Given the description of an element on the screen output the (x, y) to click on. 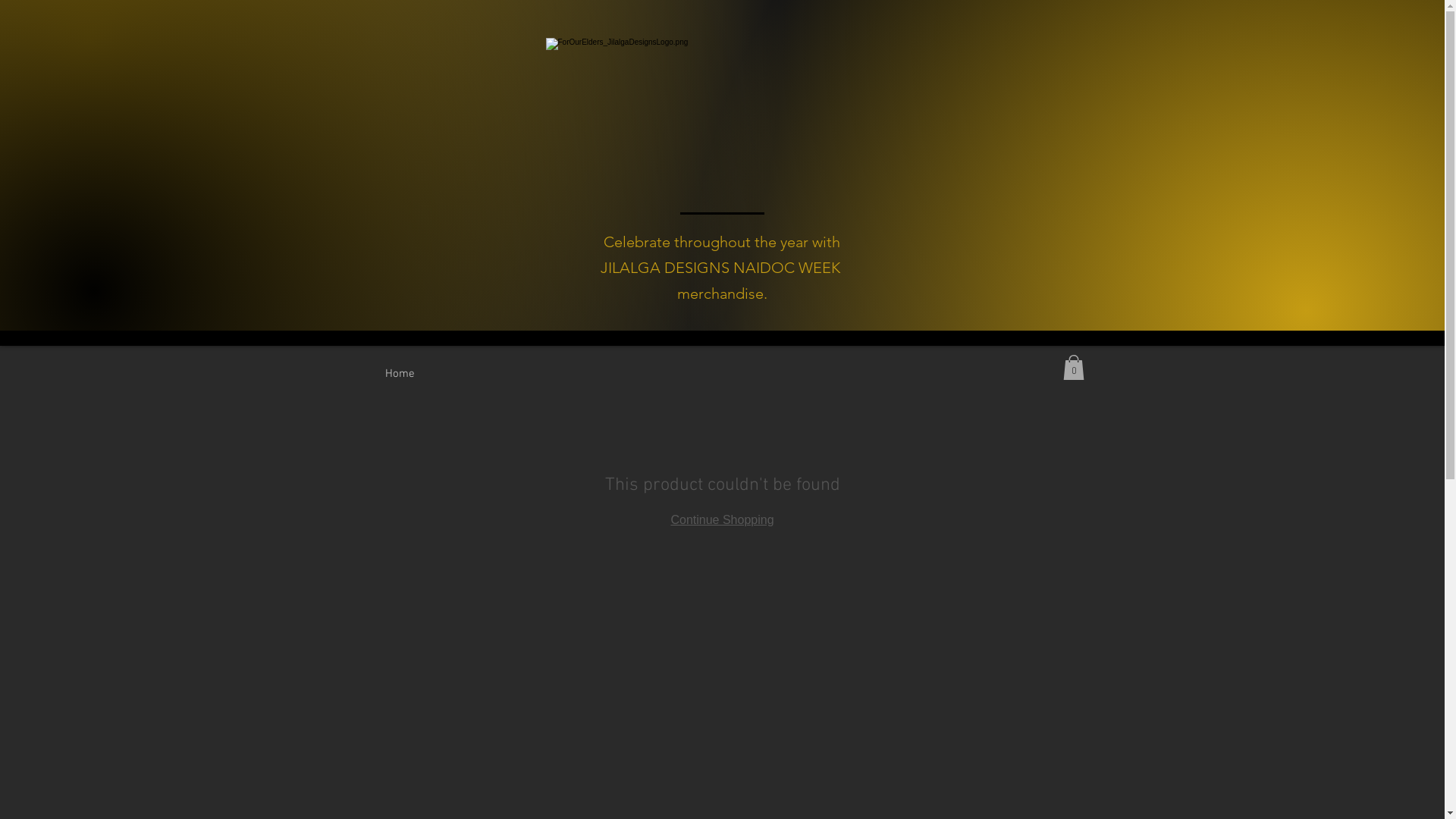
Continue Shopping Element type: text (721, 519)
Landing Page Element type: text (877, 46)
0 Element type: text (1073, 366)
Shop Naidoc Week 2023 Element type: text (1011, 46)
Landing Page Element type: text (418, 373)
